Given the description of an element on the screen output the (x, y) to click on. 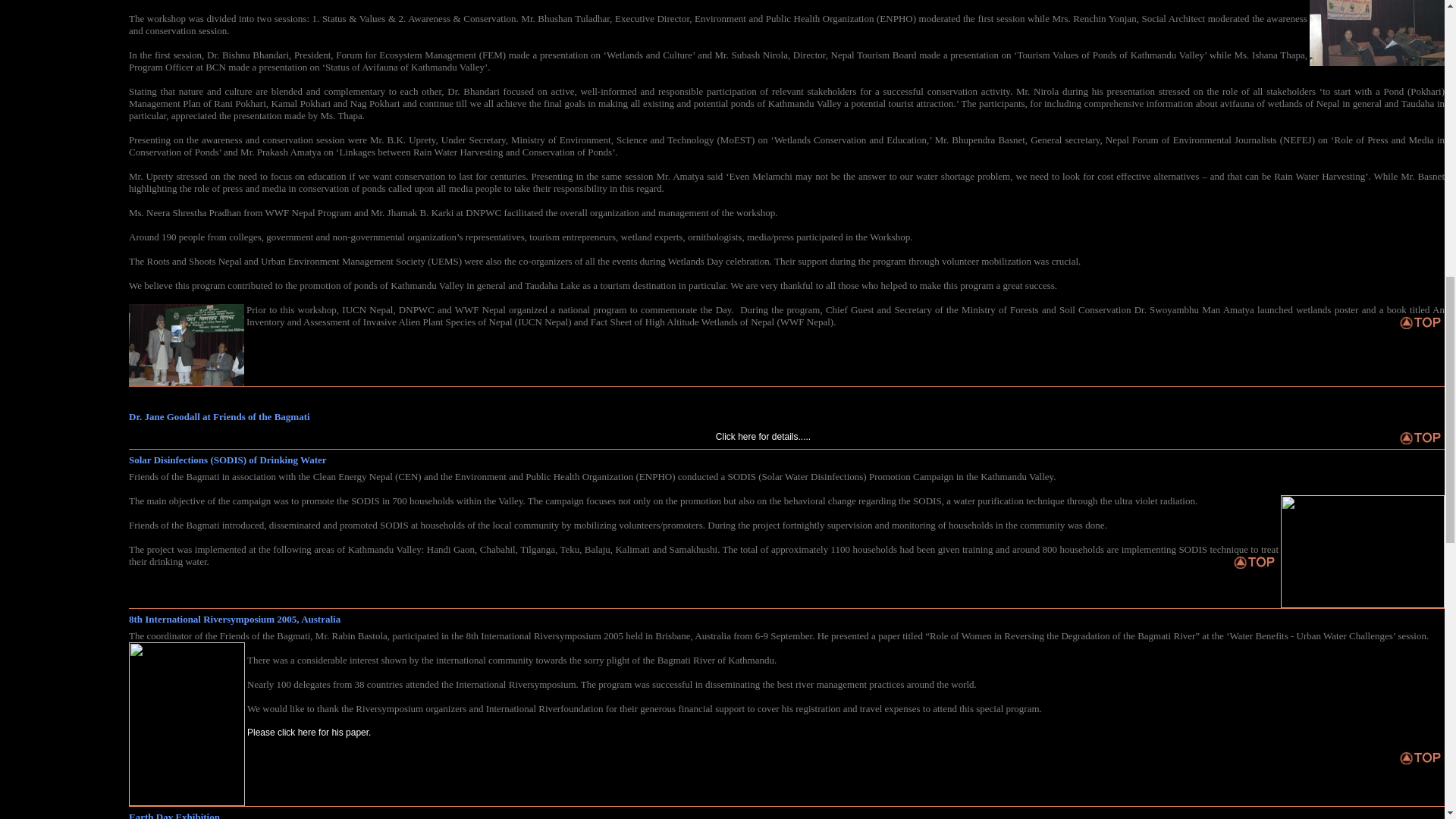
Please click here for his paper. (309, 732)
Click here for details..... (763, 436)
